Given the description of an element on the screen output the (x, y) to click on. 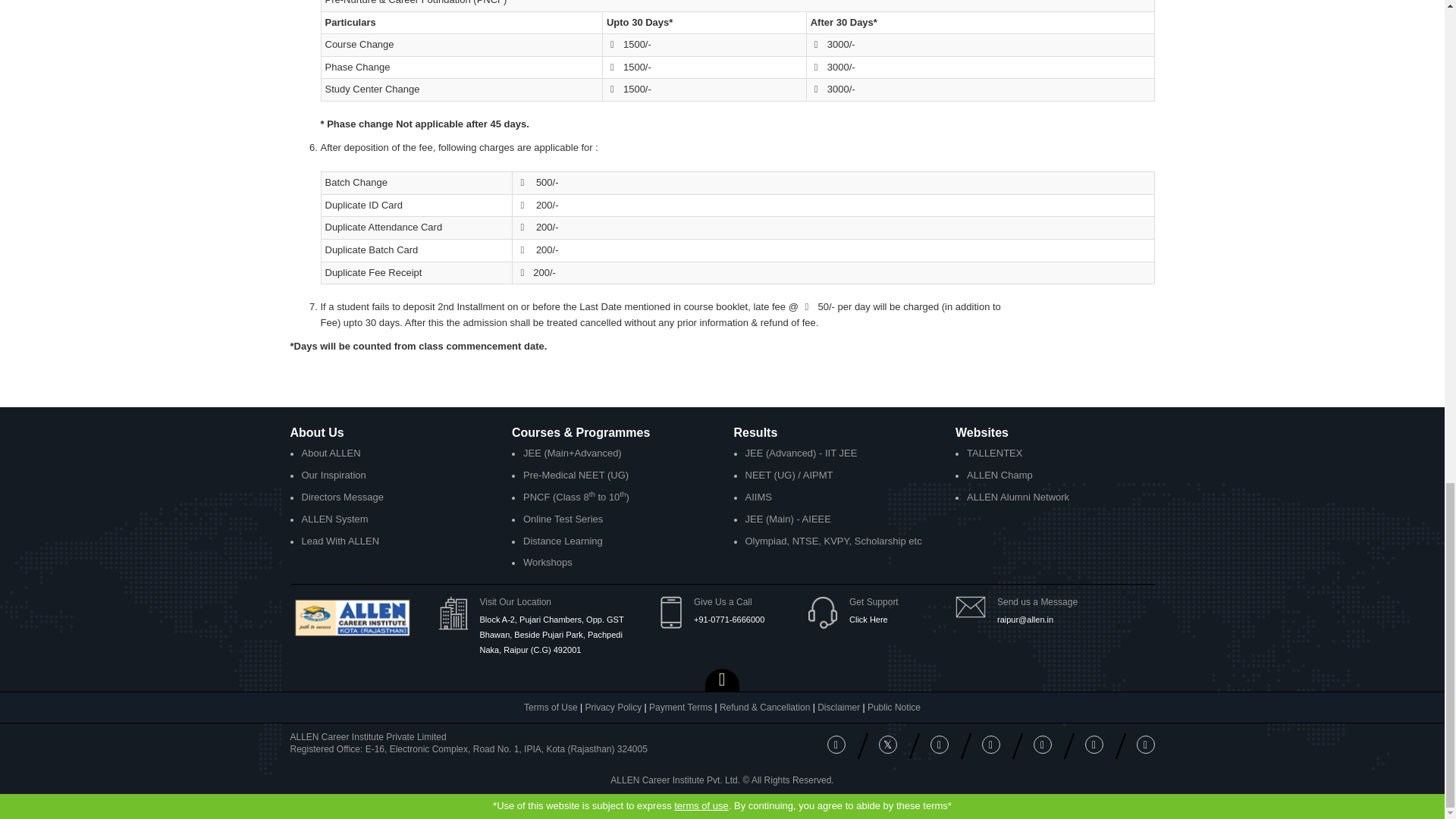
Blog (1144, 744)
Blog (1093, 744)
Linkedin (989, 744)
Twitter (886, 744)
Instagram  (938, 744)
Youtube (1041, 744)
